Given the description of an element on the screen output the (x, y) to click on. 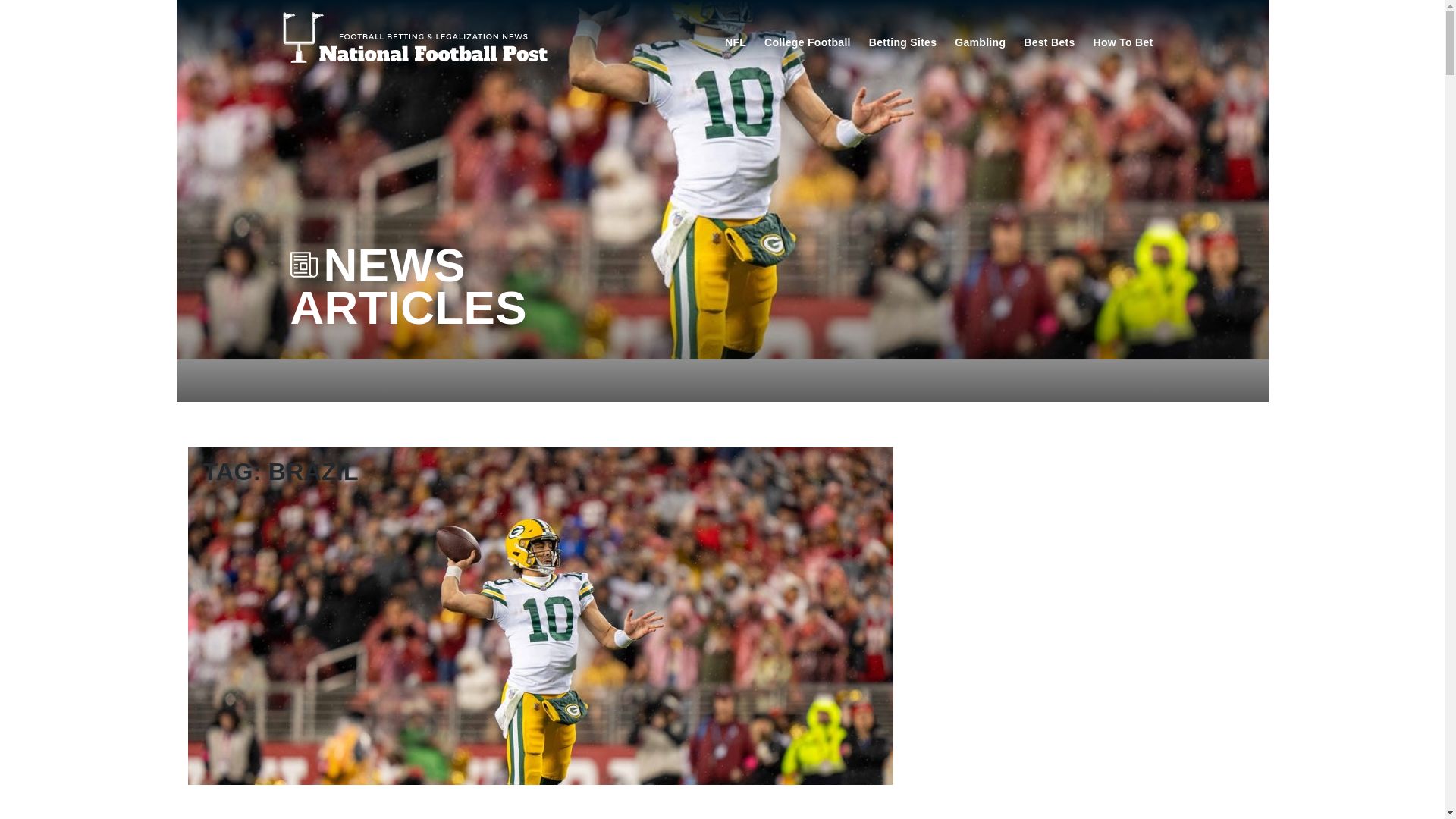
Gambling (979, 41)
Best Bets (1048, 41)
College Football (807, 41)
Betting Sites (902, 41)
College Football (807, 41)
How To Bet (1122, 41)
NFL (735, 41)
Best Bets (1048, 41)
Gambling (979, 41)
How To Bet (1122, 41)
